Given the description of an element on the screen output the (x, y) to click on. 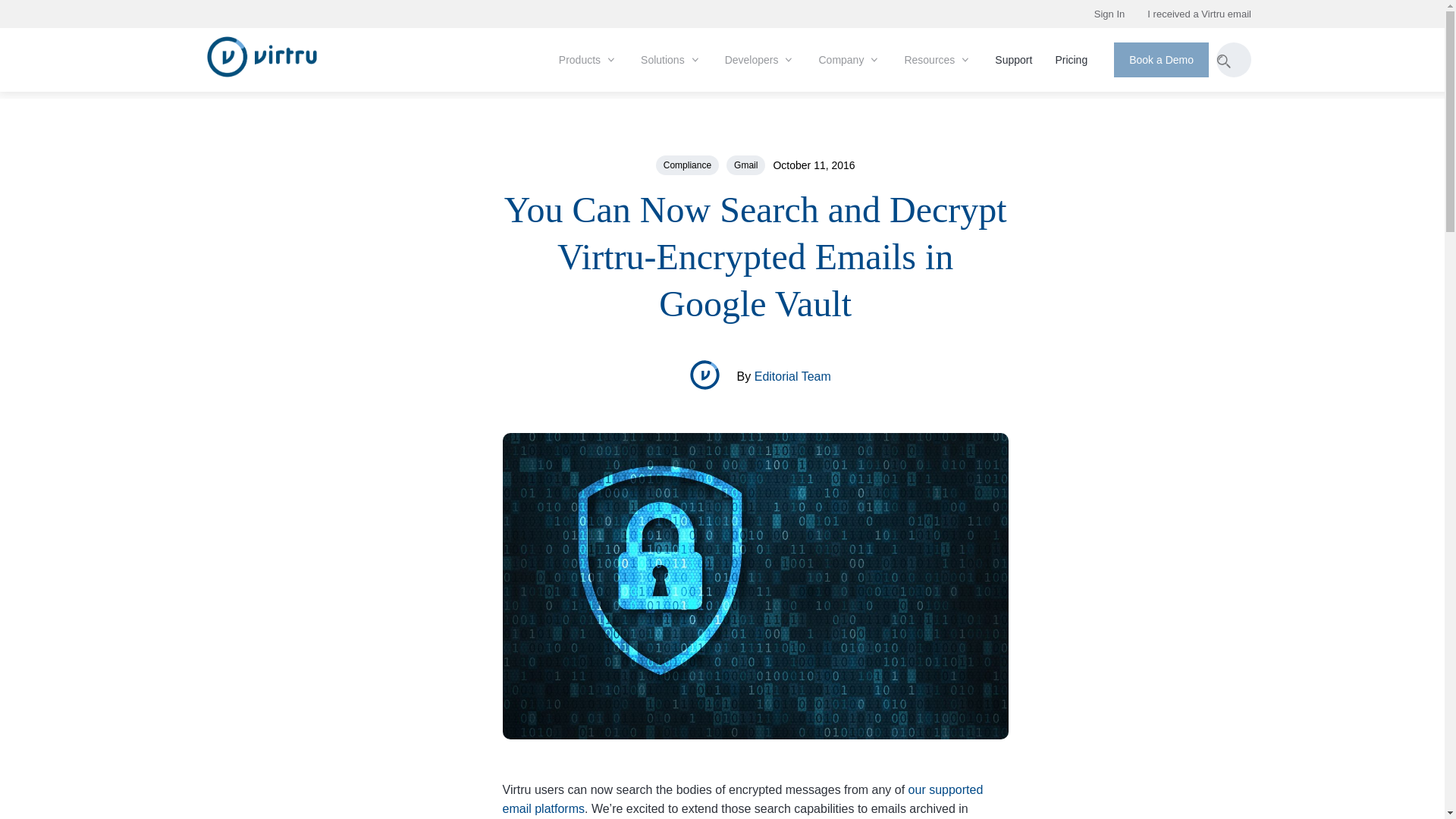
Resources (938, 59)
Company (849, 59)
Developers (760, 59)
Solutions (670, 59)
Book a Demo (1160, 59)
Sign In (1109, 13)
I received a Virtru email (1198, 13)
Products (587, 59)
Support (1013, 59)
